Given the description of an element on the screen output the (x, y) to click on. 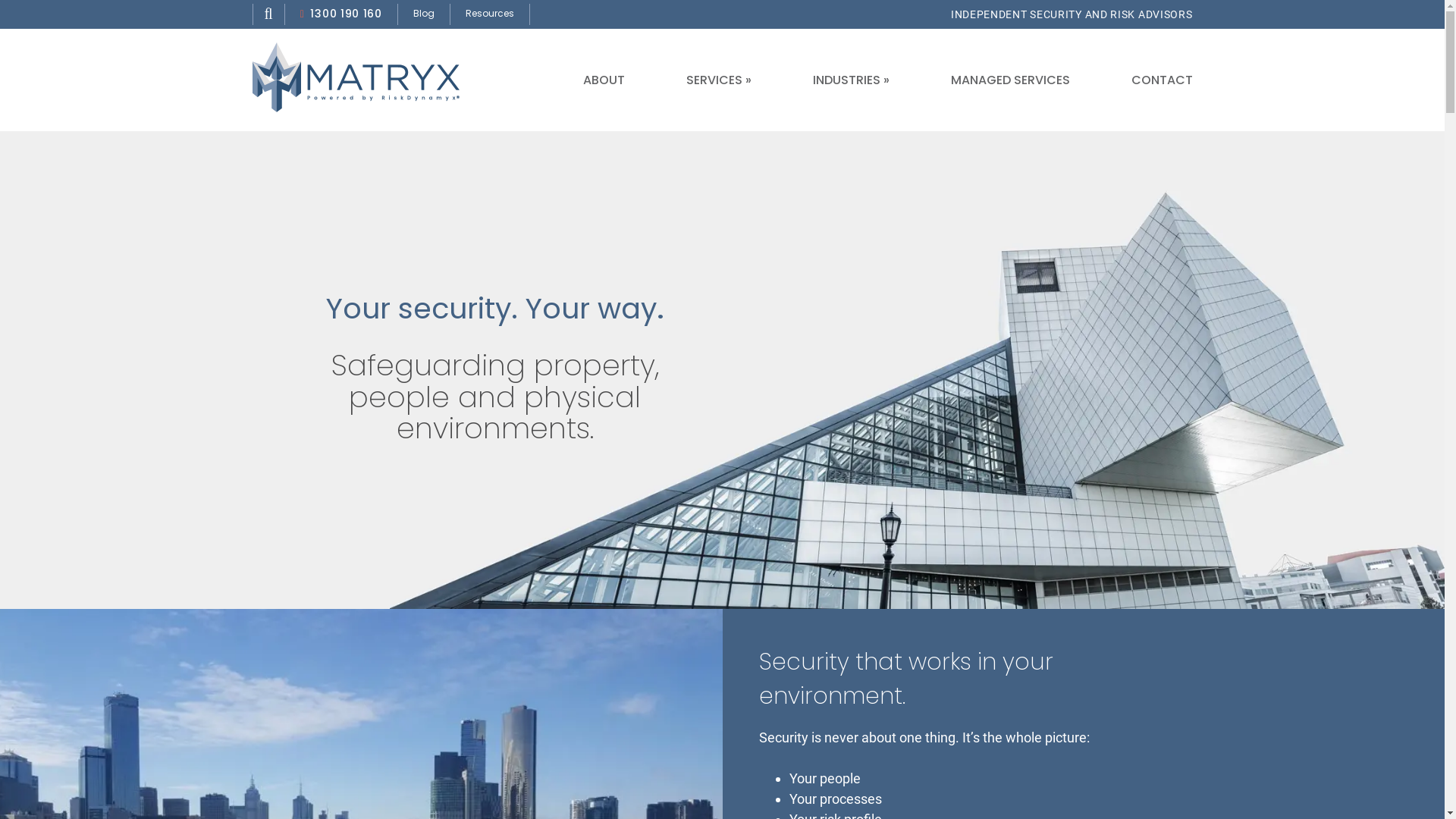
MANAGED SERVICES Element type: text (1010, 80)
Search Element type: hover (268, 13)
Resources Element type: text (489, 13)
Search Element type: text (926, 408)
CONTACT Element type: text (1161, 80)
1300 190 160 Element type: text (341, 13)
Blog Element type: text (423, 13)
ABOUT Element type: text (603, 80)
